Given the description of an element on the screen output the (x, y) to click on. 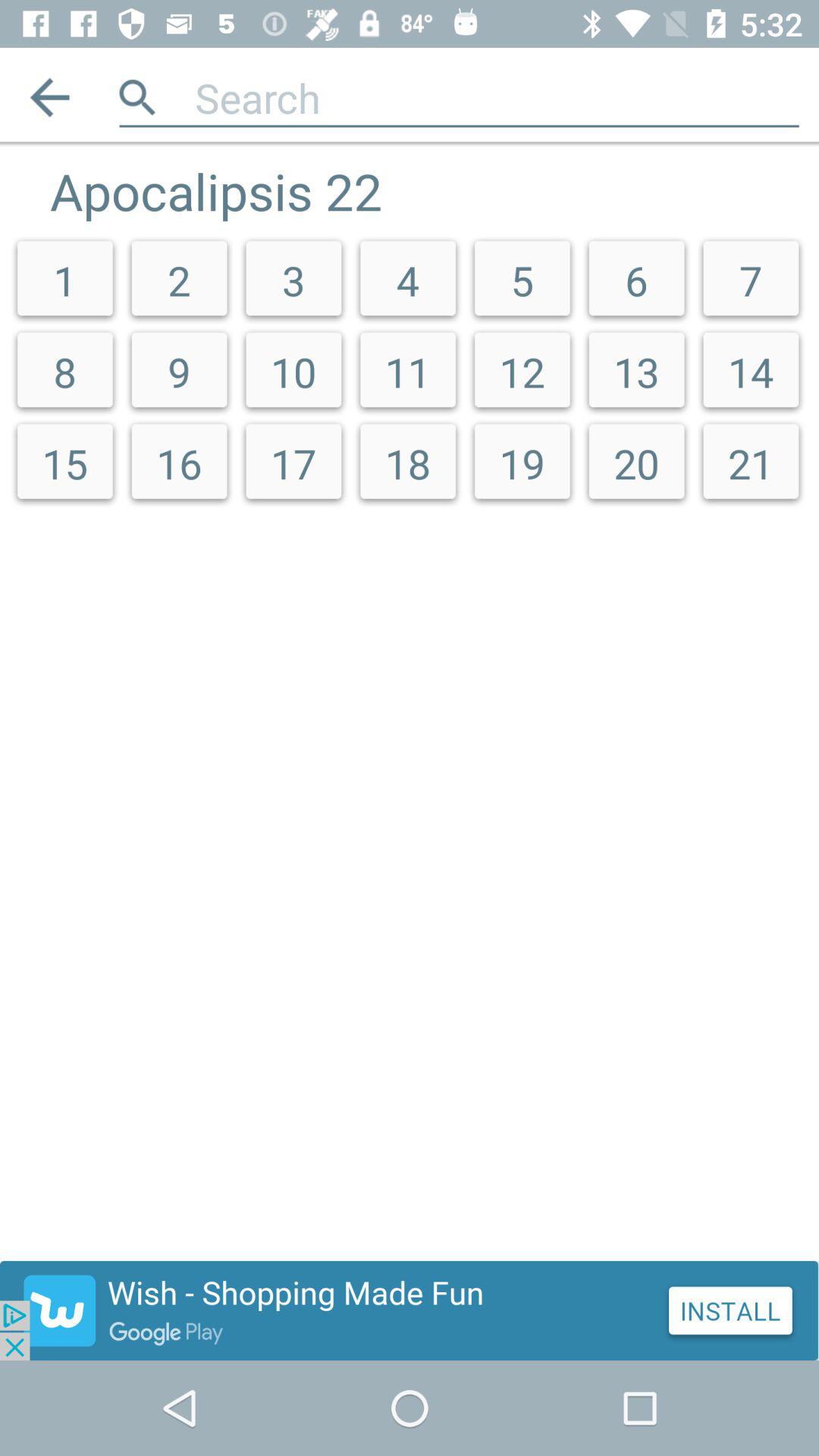
show outside advertisement (409, 1310)
